Given the description of an element on the screen output the (x, y) to click on. 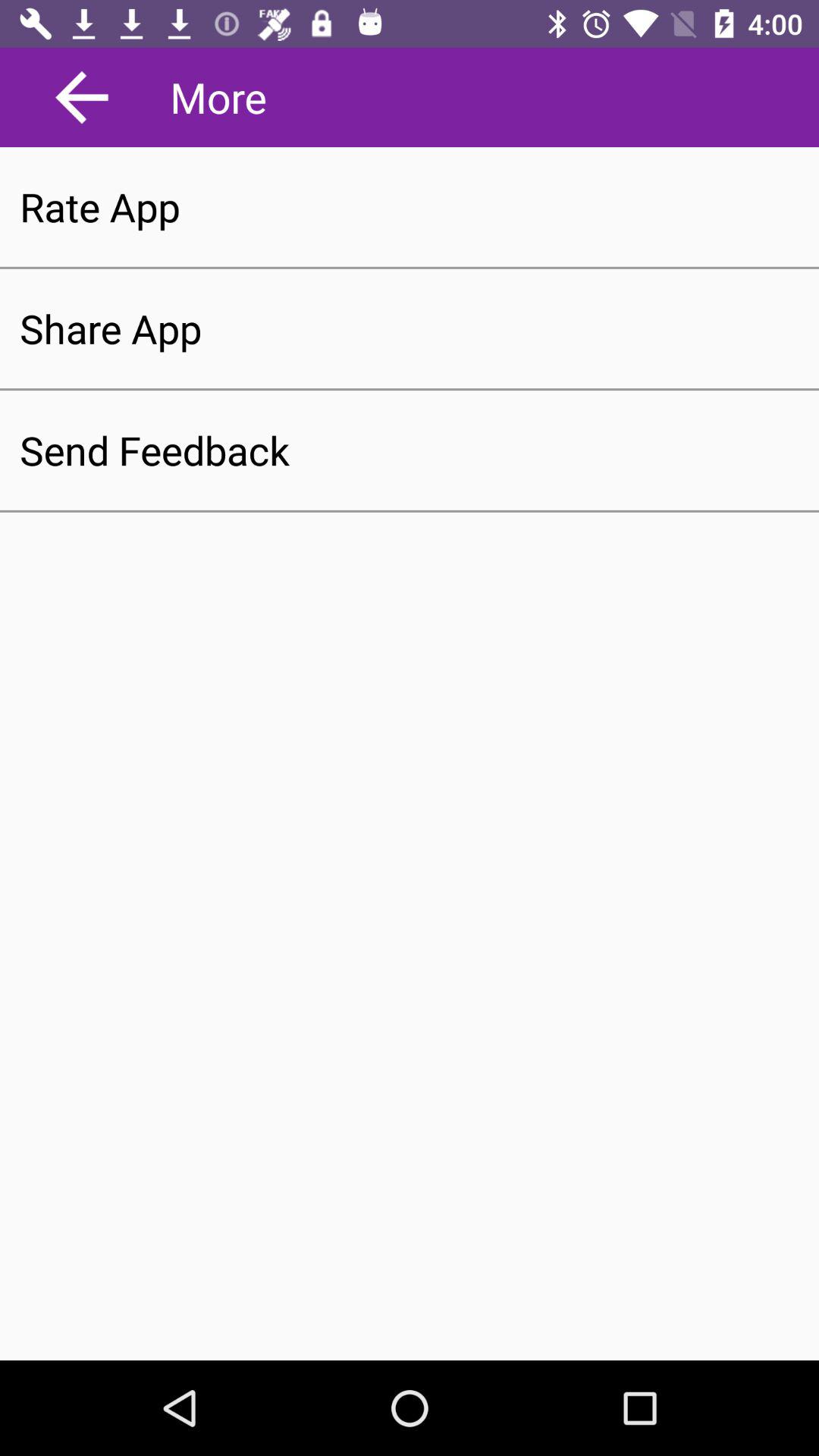
press send feedback icon (409, 450)
